Given the description of an element on the screen output the (x, y) to click on. 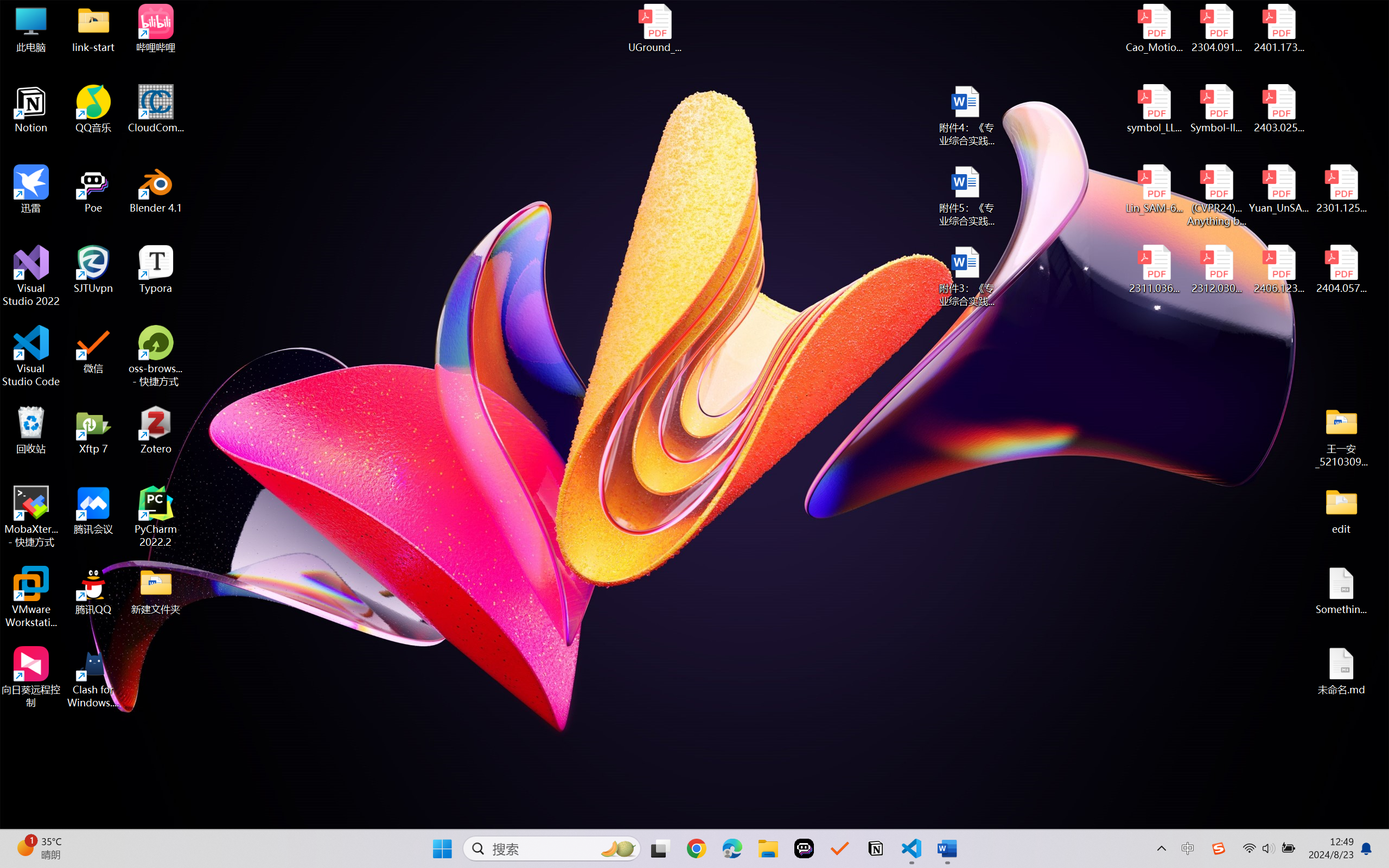
2406.12373v2.pdf (1278, 269)
Xftp 7 (93, 430)
CloudCompare (156, 109)
(CVPR24)Matching Anything by Segmenting Anything.pdf (1216, 195)
Something.md (1340, 591)
